Given the description of an element on the screen output the (x, y) to click on. 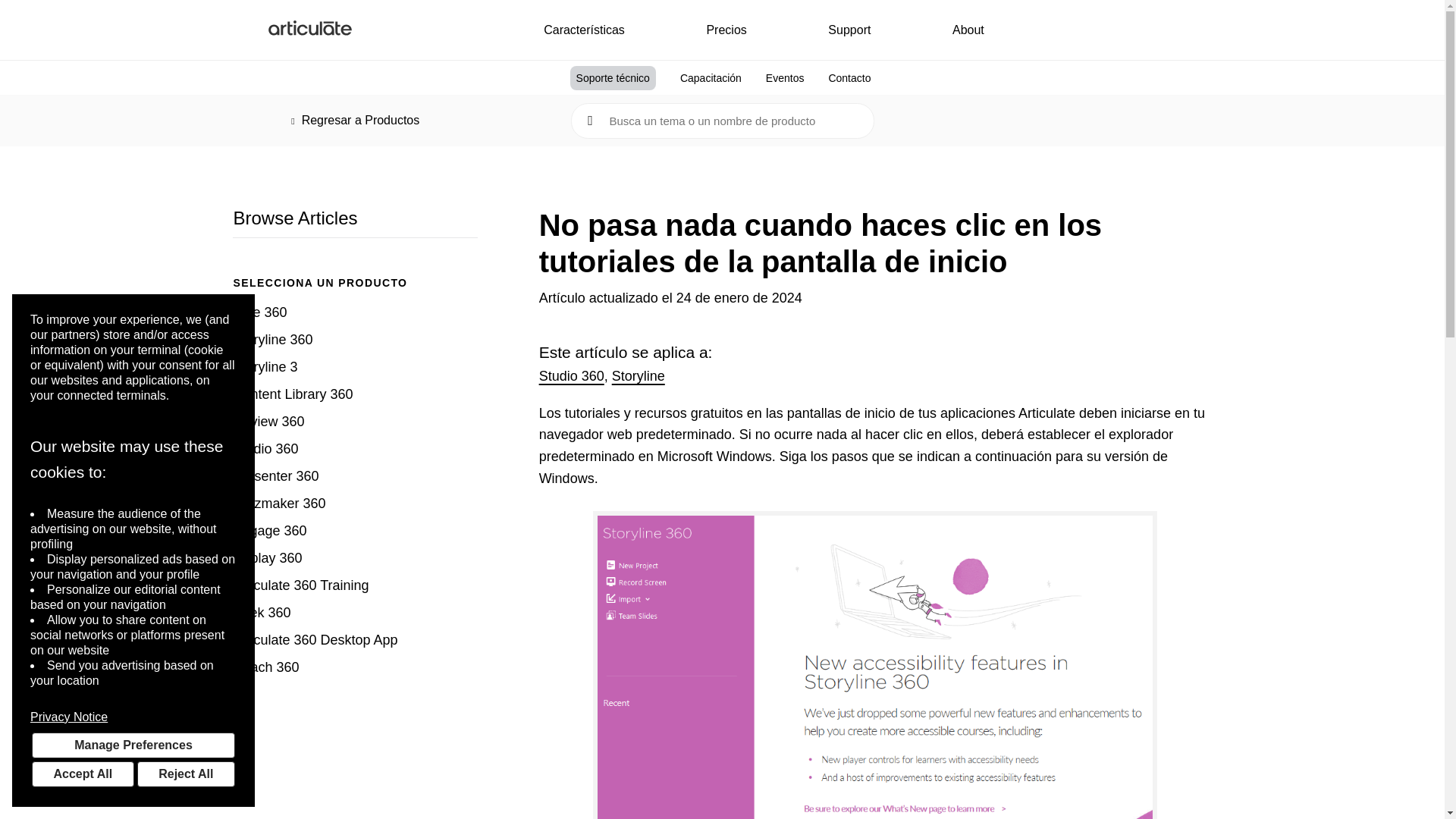
Eventos (785, 77)
Reject All (185, 774)
Privacy Notice (132, 717)
Accept All (82, 774)
Regresar a Productos (355, 120)
Contacto (849, 77)
Manage Preferences (133, 745)
Articulate (309, 30)
